Given the description of an element on the screen output the (x, y) to click on. 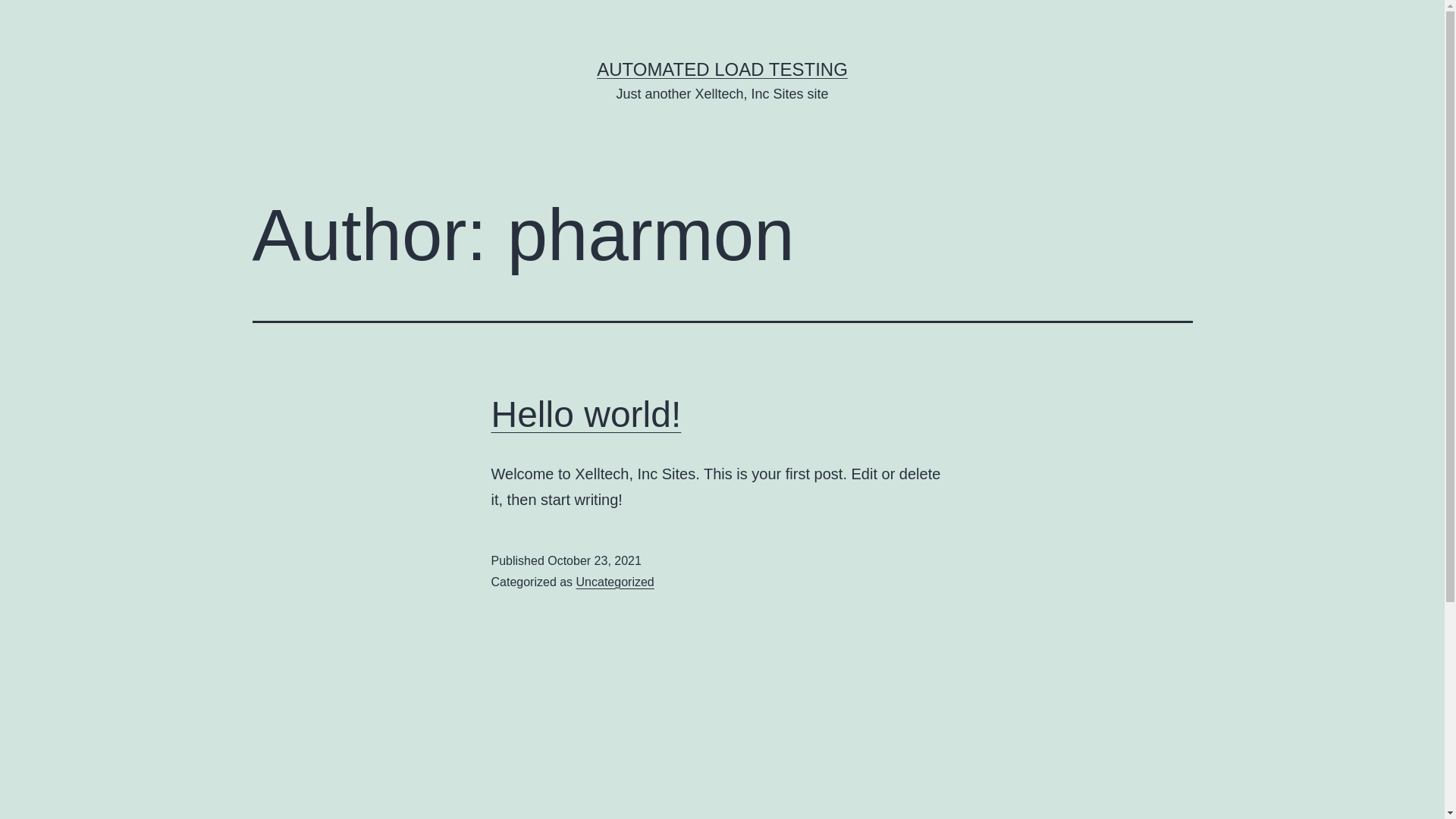
AUTOMATED LOAD TESTING Element type: text (721, 69)
Hello world! Element type: text (586, 414)
Uncategorized Element type: text (615, 581)
